Given the description of an element on the screen output the (x, y) to click on. 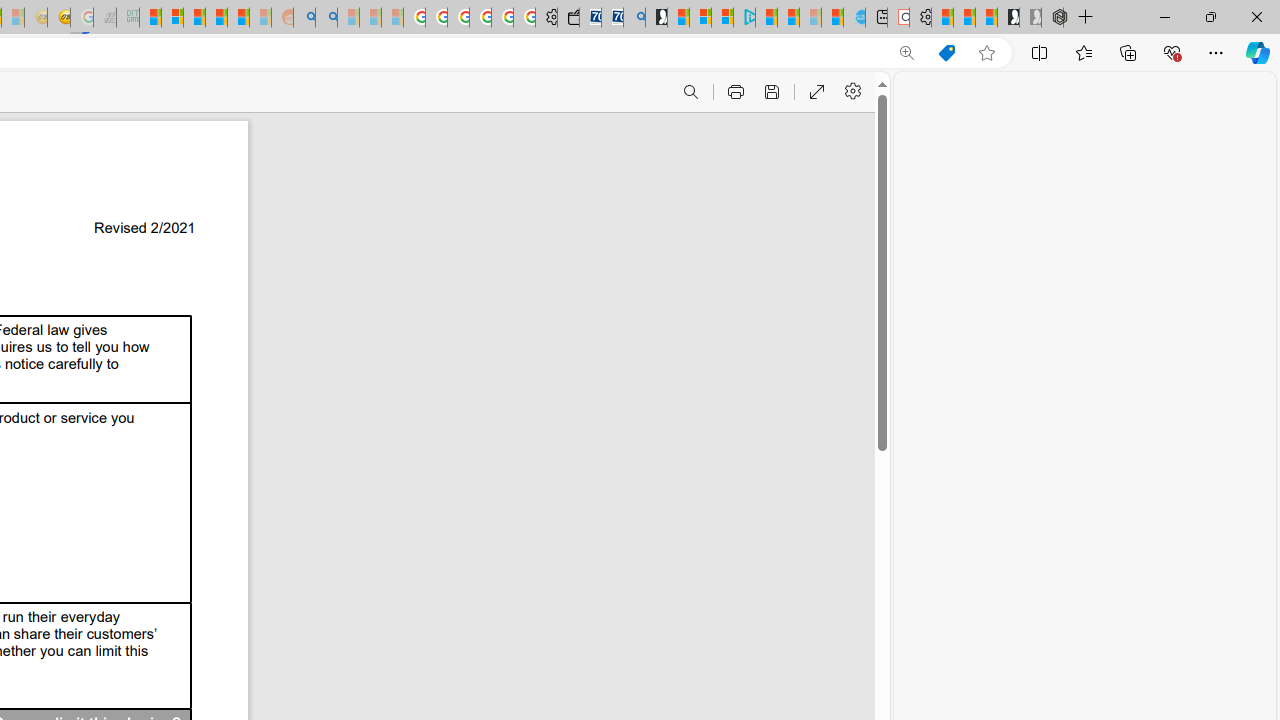
Zoom: 110% (906, 53)
Find (Ctrl + F) (690, 92)
